Given the description of an element on the screen output the (x, y) to click on. 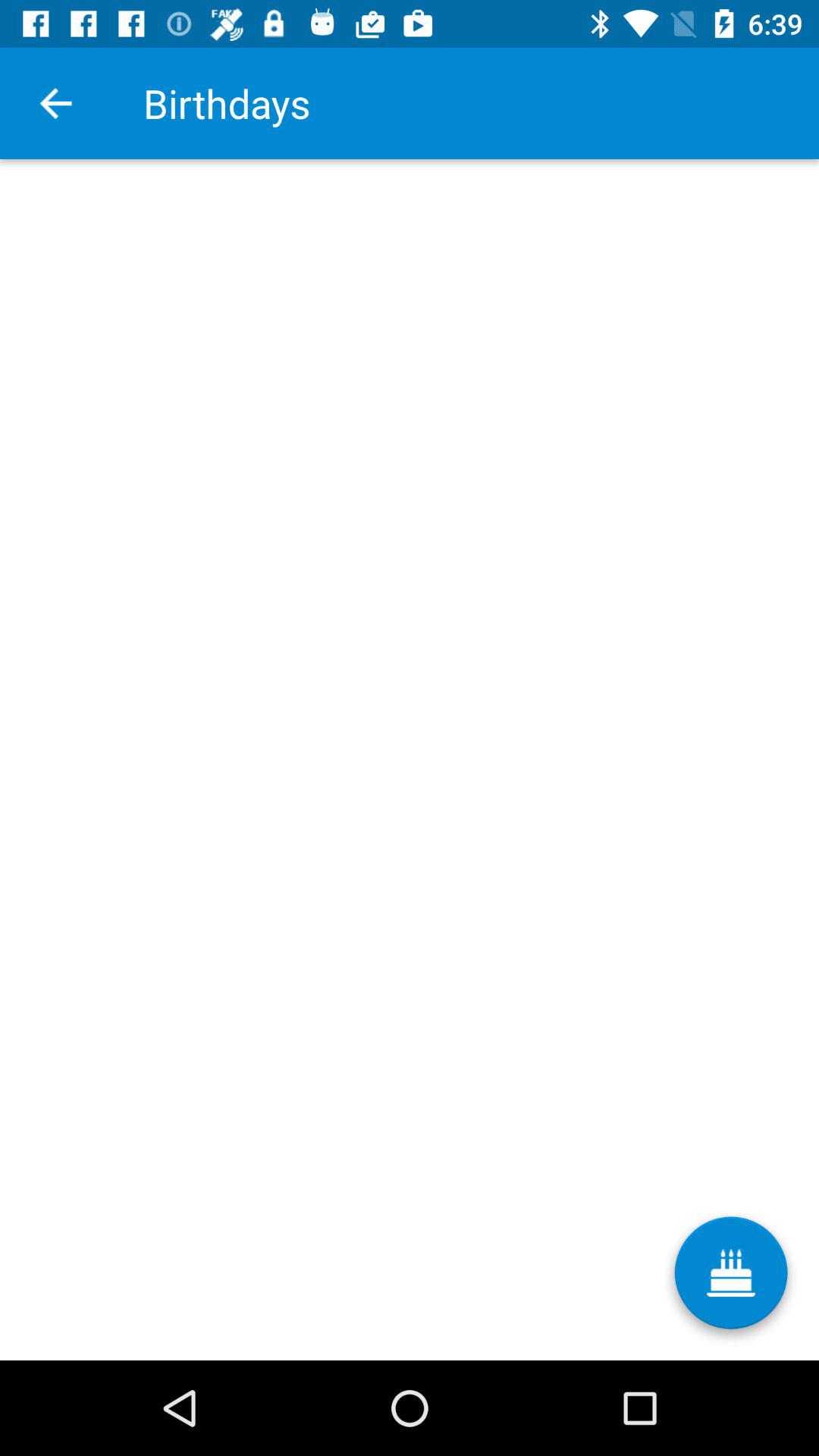
select icon next to the birthdays (55, 103)
